Given the description of an element on the screen output the (x, y) to click on. 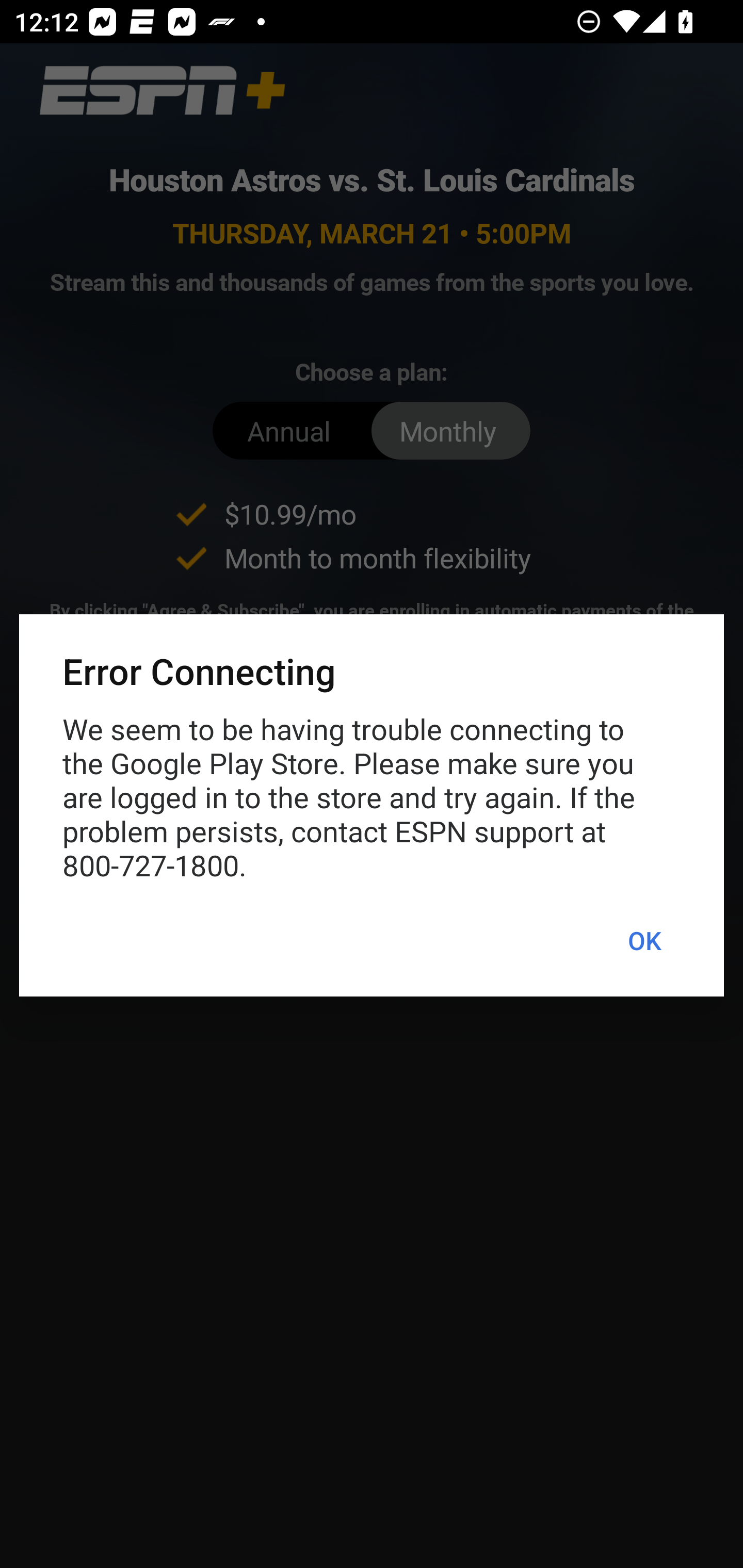
OK (644, 940)
